Given the description of an element on the screen output the (x, y) to click on. 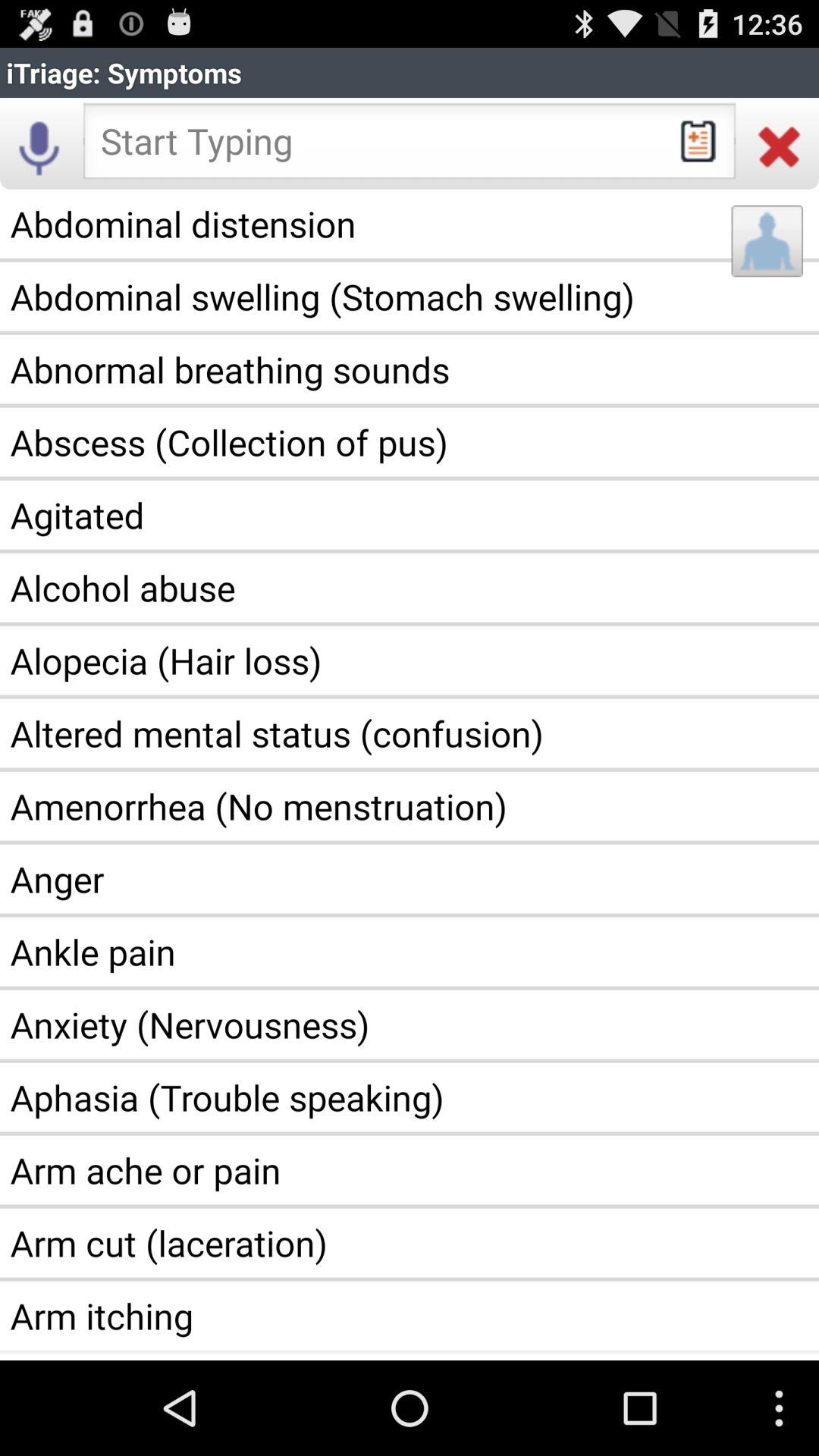
press app above the abdominal distension (779, 145)
